Given the description of an element on the screen output the (x, y) to click on. 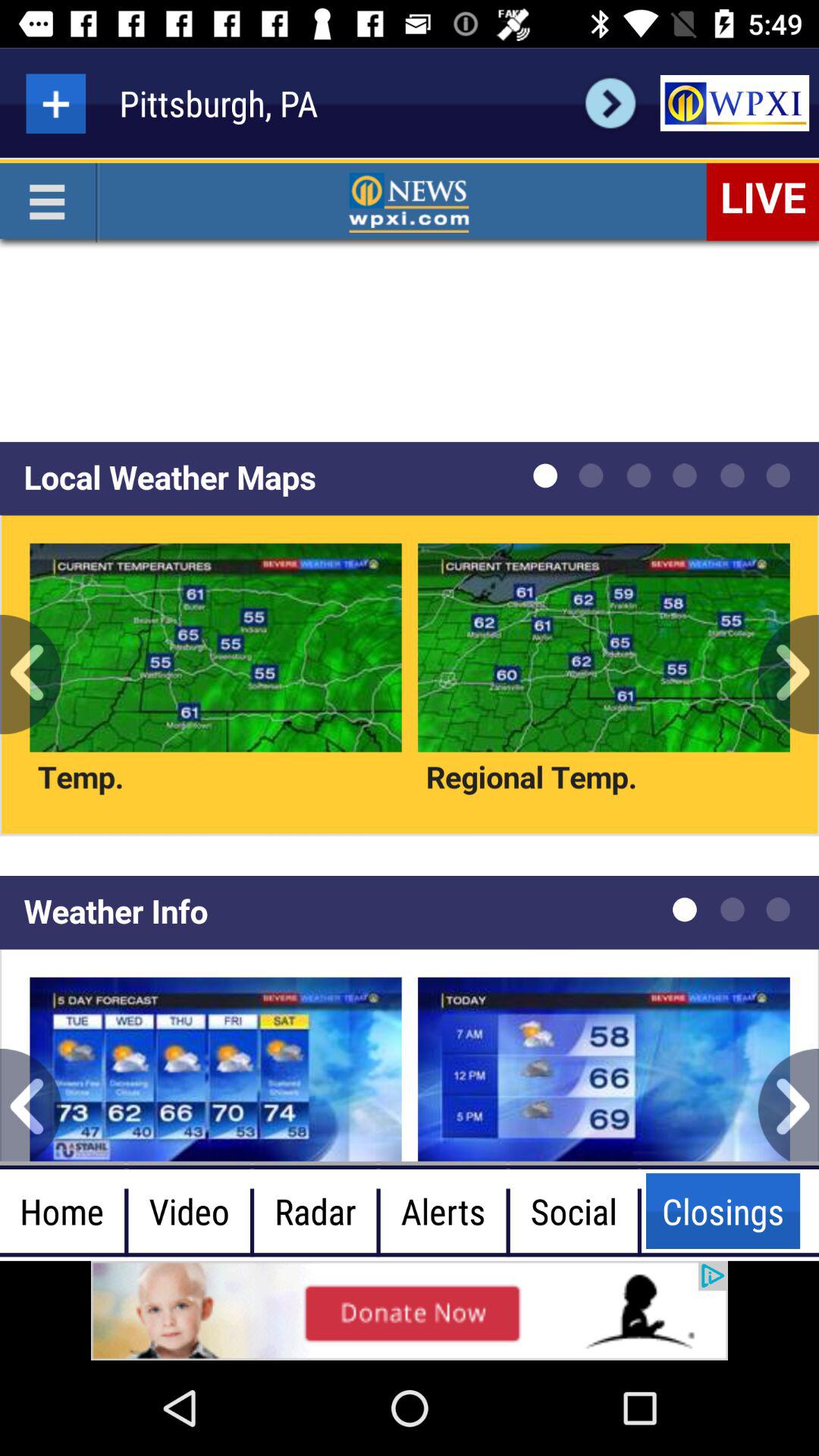
go to next (610, 103)
